Given the description of an element on the screen output the (x, y) to click on. 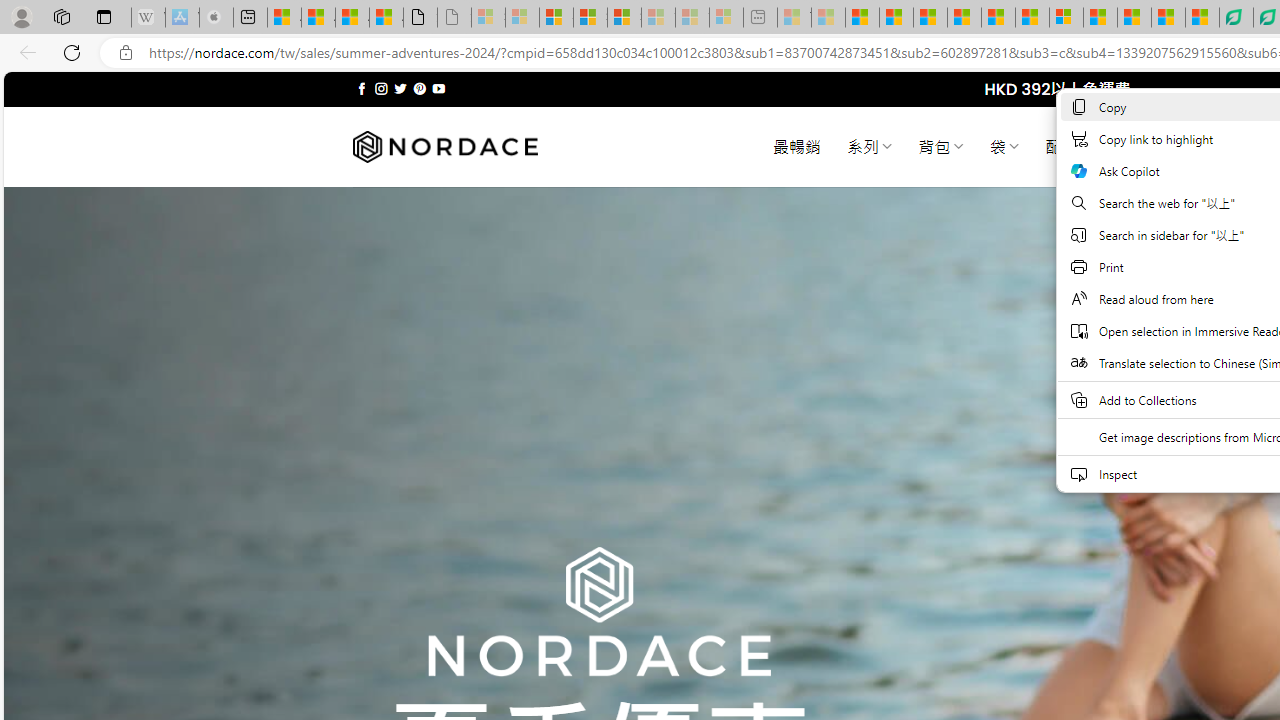
Aberdeen, Hong Kong SAR weather forecast | Microsoft Weather (318, 17)
LendingTree - Compare Lenders (1236, 17)
Microsoft account | Account Checkup - Sleeping (726, 17)
